Given the description of an element on the screen output the (x, y) to click on. 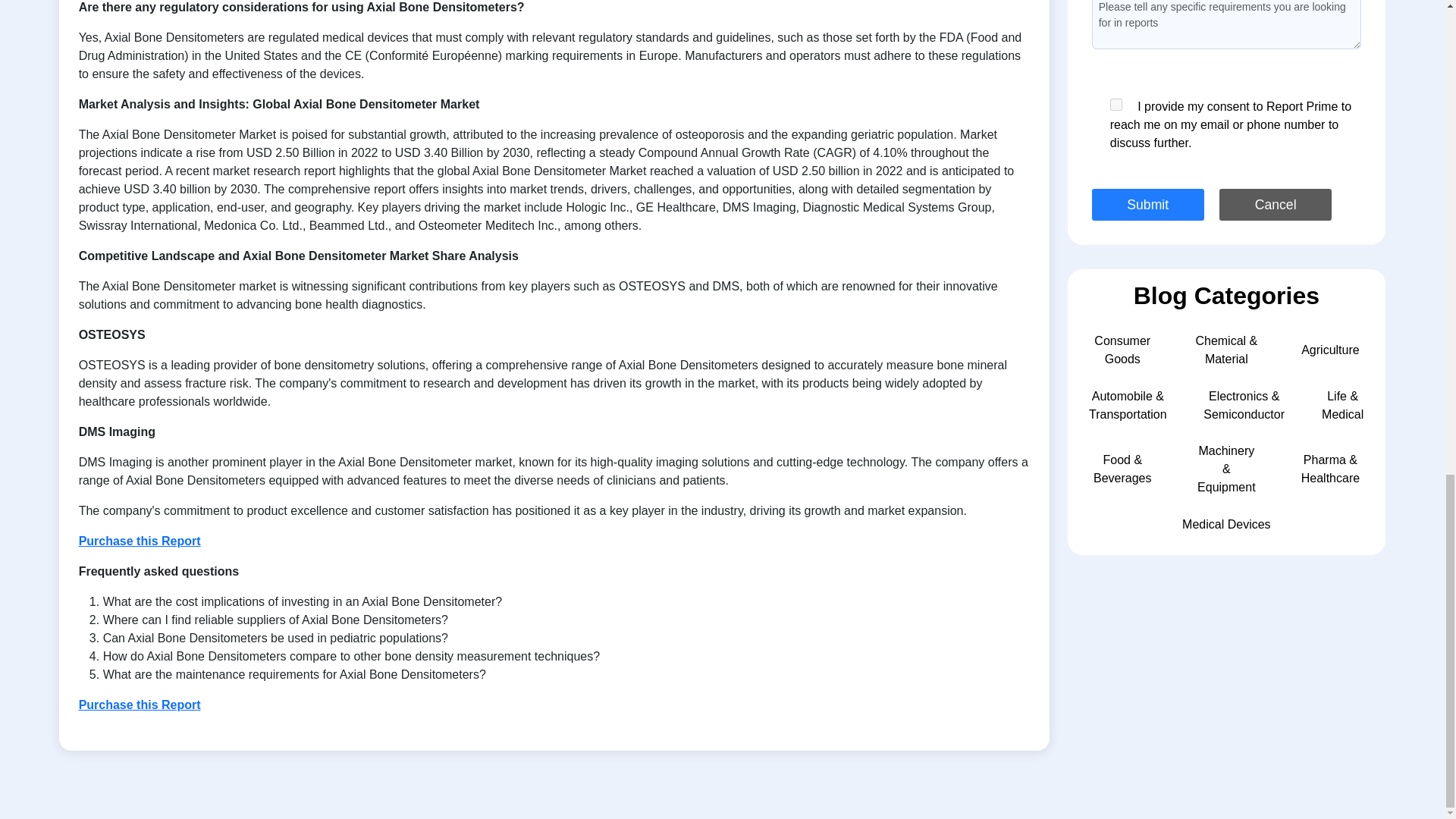
Submit (1148, 204)
Consumer Goods (1122, 349)
Purchase this Report (139, 540)
Cancel (1276, 204)
Purchase this Report (139, 704)
Agriculture (1329, 349)
